Given the description of an element on the screen output the (x, y) to click on. 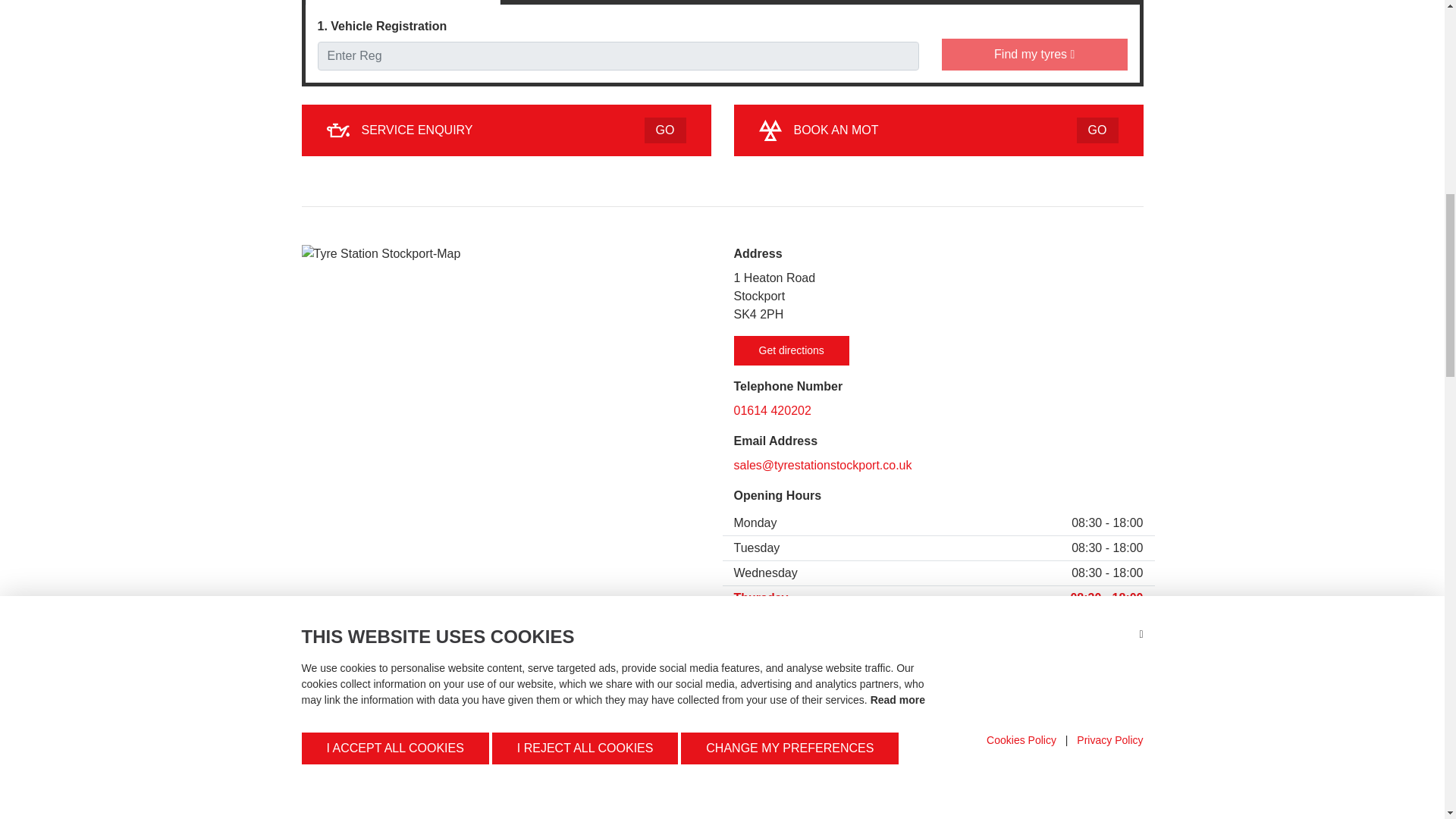
Get directions (790, 350)
01614 420202 (937, 130)
SEARCH BY REGISTRATION (937, 411)
SEARCH BY TYRE SIZE (401, 2)
Find my tyres (506, 130)
